Given the description of an element on the screen output the (x, y) to click on. 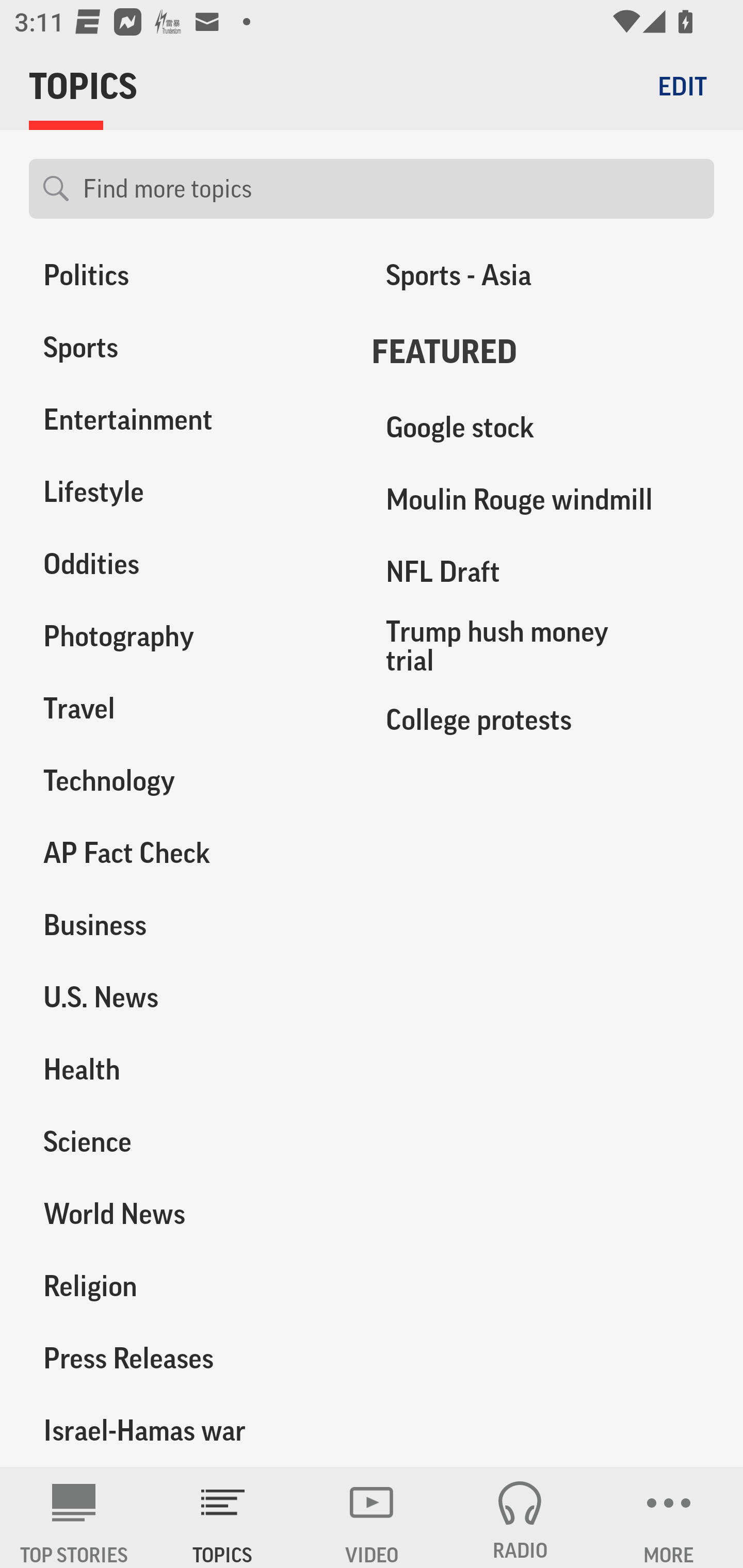
EDIT (682, 86)
Find more topics (391, 188)
Politics (185, 279)
Sports - Asia (542, 279)
Sports (185, 348)
Entertainment (185, 420)
Google stock (542, 428)
Lifestyle (185, 492)
Moulin Rouge windmill (542, 500)
Oddities (185, 564)
NFL Draft (542, 572)
Photography (185, 636)
Trump hush money trial (542, 645)
Travel (185, 708)
College protests (542, 719)
Technology (185, 780)
AP Fact Check (185, 852)
Business (185, 925)
U.S. News (185, 997)
Health (185, 1069)
Science (185, 1141)
World News (185, 1213)
Religion (185, 1285)
Press Releases (185, 1357)
Israel-Hamas war (185, 1430)
AP News TOP STORIES (74, 1517)
TOPICS (222, 1517)
VIDEO (371, 1517)
RADIO (519, 1517)
MORE (668, 1517)
